Given the description of an element on the screen output the (x, y) to click on. 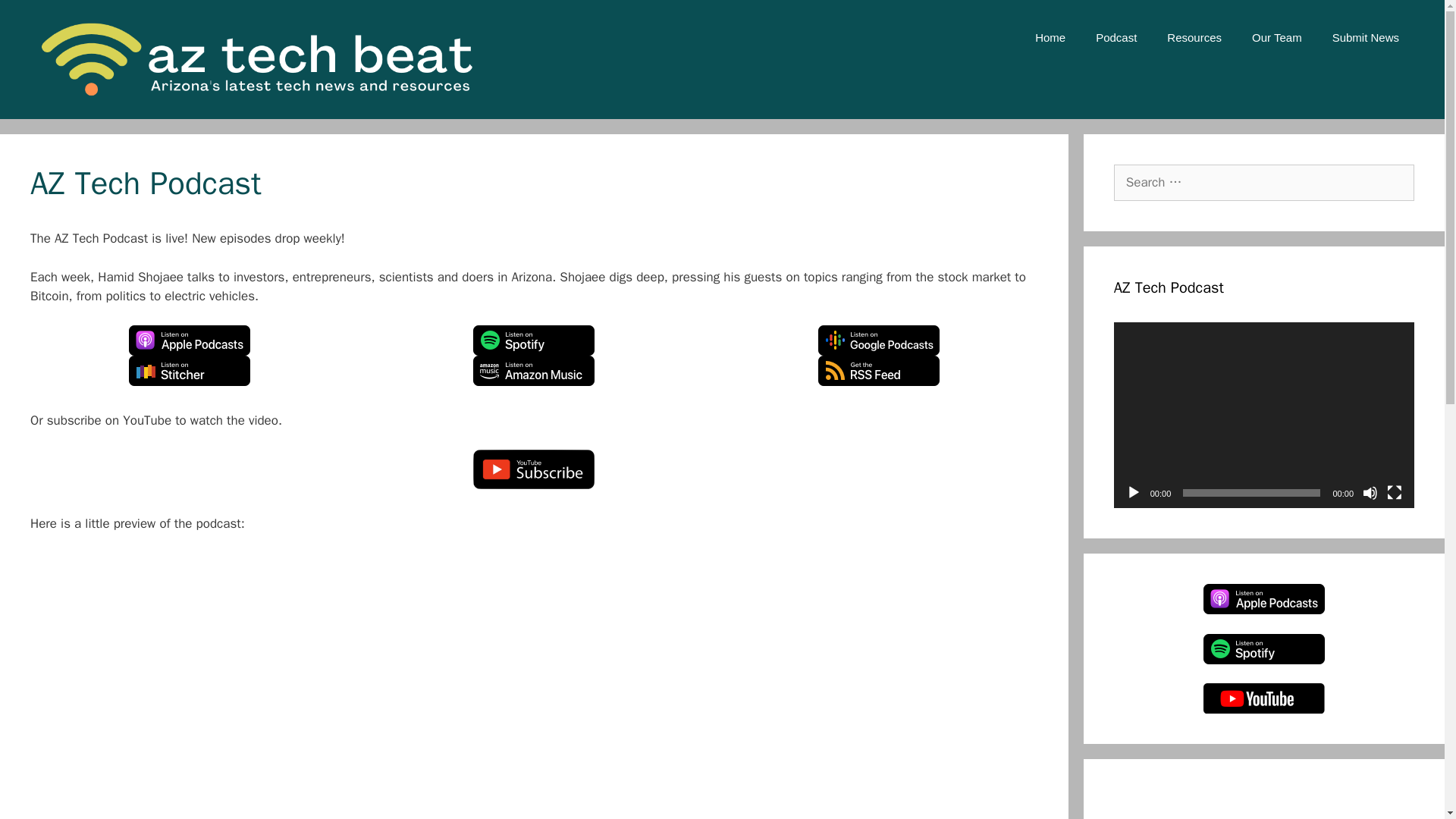
Podcast (1115, 37)
Our Team (1276, 37)
Search for: (1263, 182)
AZ Tech Beat (253, 58)
Resources (1193, 37)
Home (1050, 37)
Fullscreen (1394, 492)
Mute (1369, 492)
Submit News (1365, 37)
AZ Tech Beat (253, 59)
Search (38, 18)
Play (1133, 492)
